Given the description of an element on the screen output the (x, y) to click on. 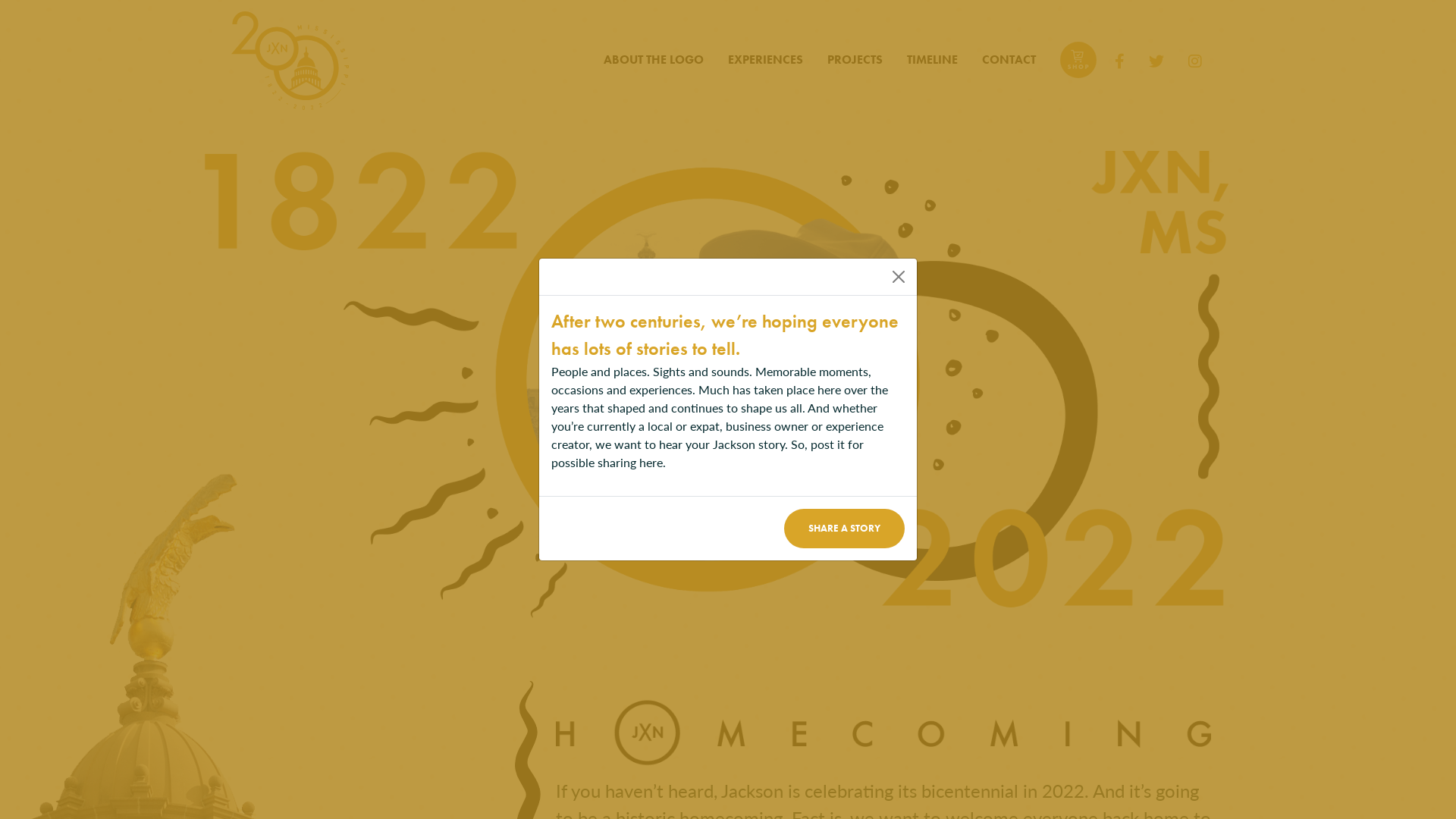
SHARE A STORY Element type: text (844, 527)
CONTACT Element type: text (1008, 59)
ABOUT THE LOGO Element type: text (653, 59)
200jxn Element type: hover (289, 60)
PROJECTS Element type: text (854, 59)
EXPERIENCES Element type: text (765, 59)
Shop Element type: hover (1078, 59)
TIMELINE Element type: text (931, 59)
